Given the description of an element on the screen output the (x, y) to click on. 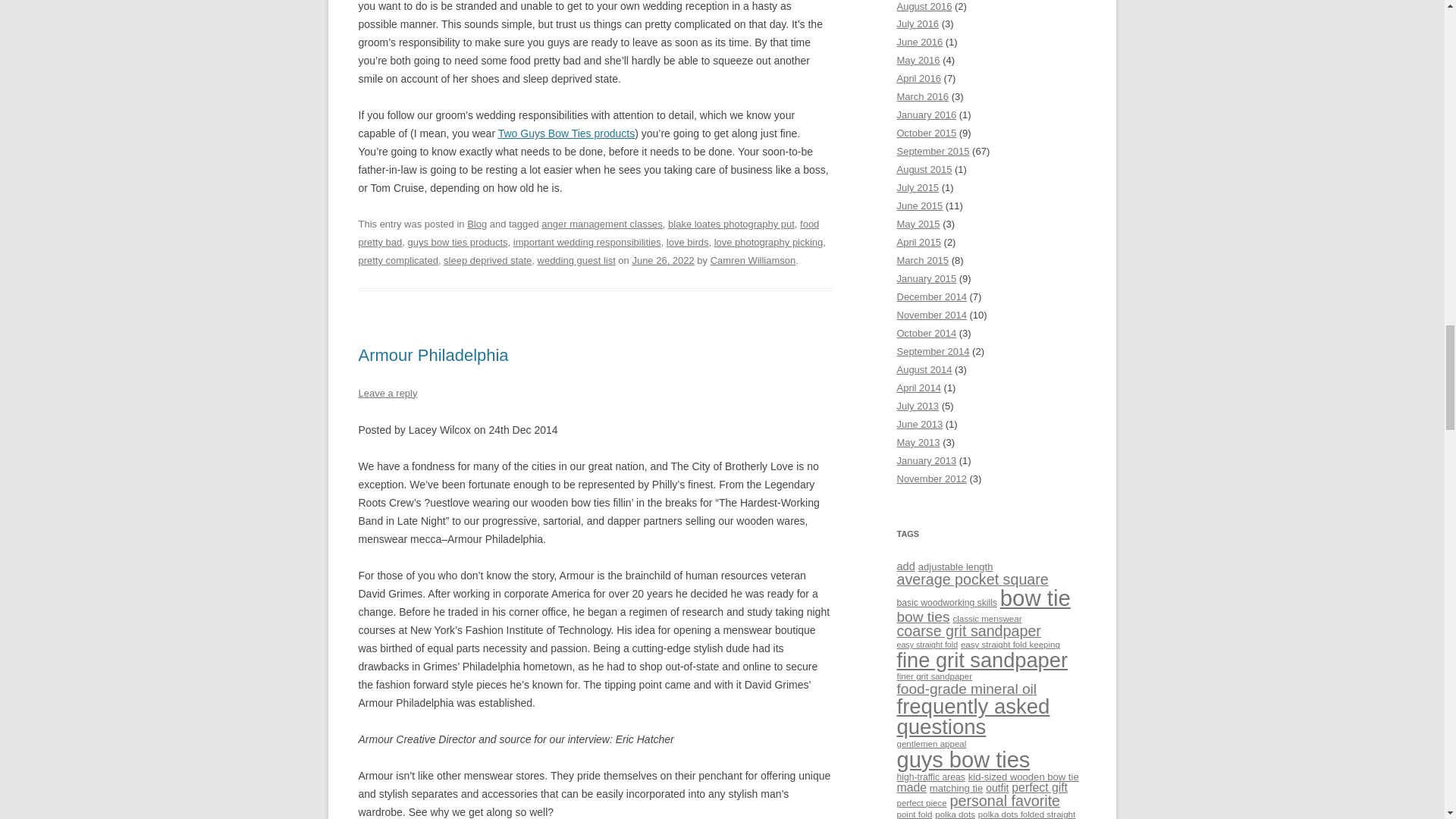
important wedding responsibilities (587, 242)
blake loates photography put (731, 224)
anger management classes (601, 224)
View all posts by Camren Williamson (753, 260)
Two Guys Bow Ties products (565, 133)
pretty complicated (398, 260)
guys bow ties products (456, 242)
love photography picking (769, 242)
wedding guest list (576, 260)
June 26, 2022 (662, 260)
